Given the description of an element on the screen output the (x, y) to click on. 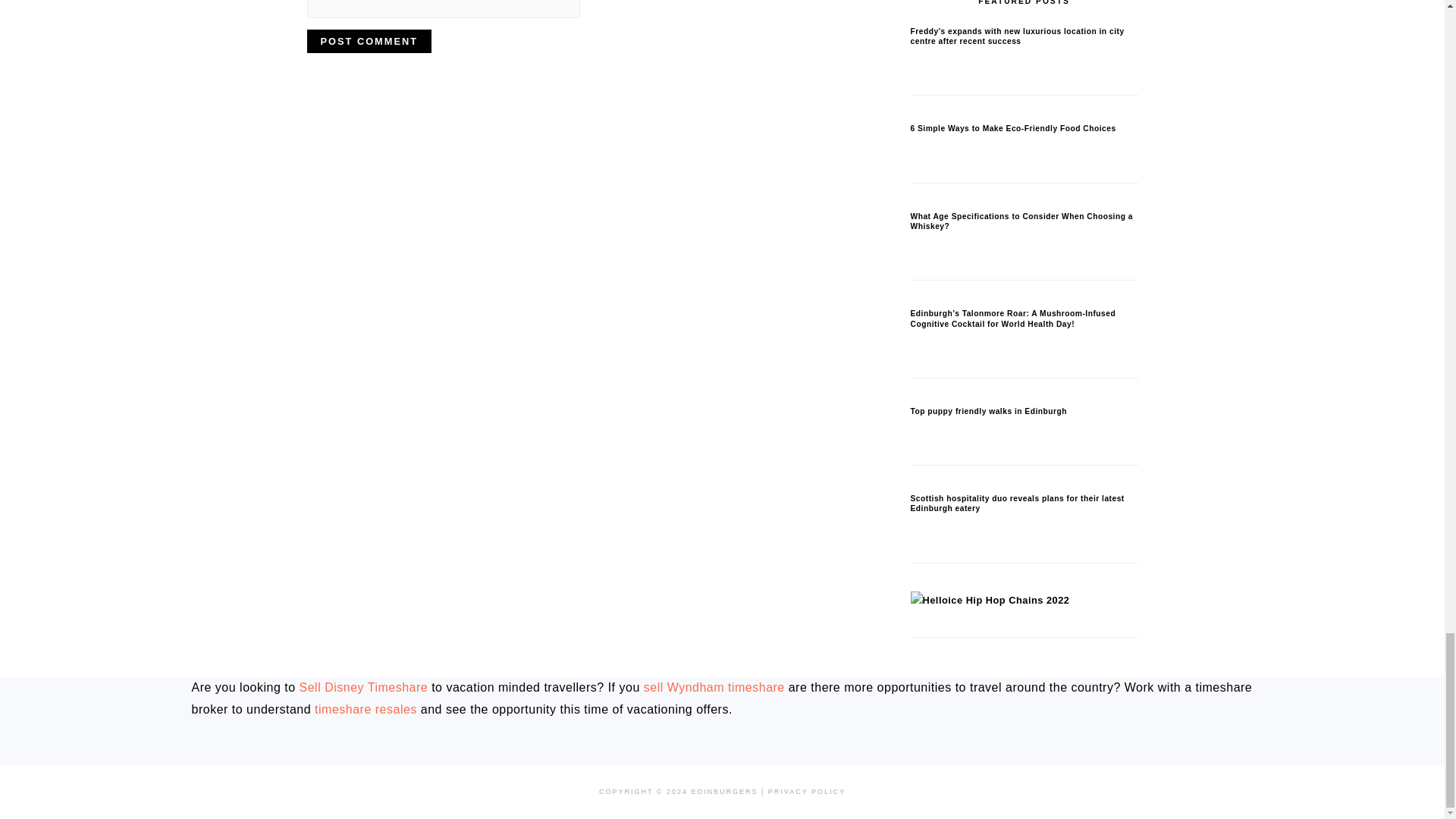
Post Comment (367, 41)
Post Comment (367, 41)
